Given the description of an element on the screen output the (x, y) to click on. 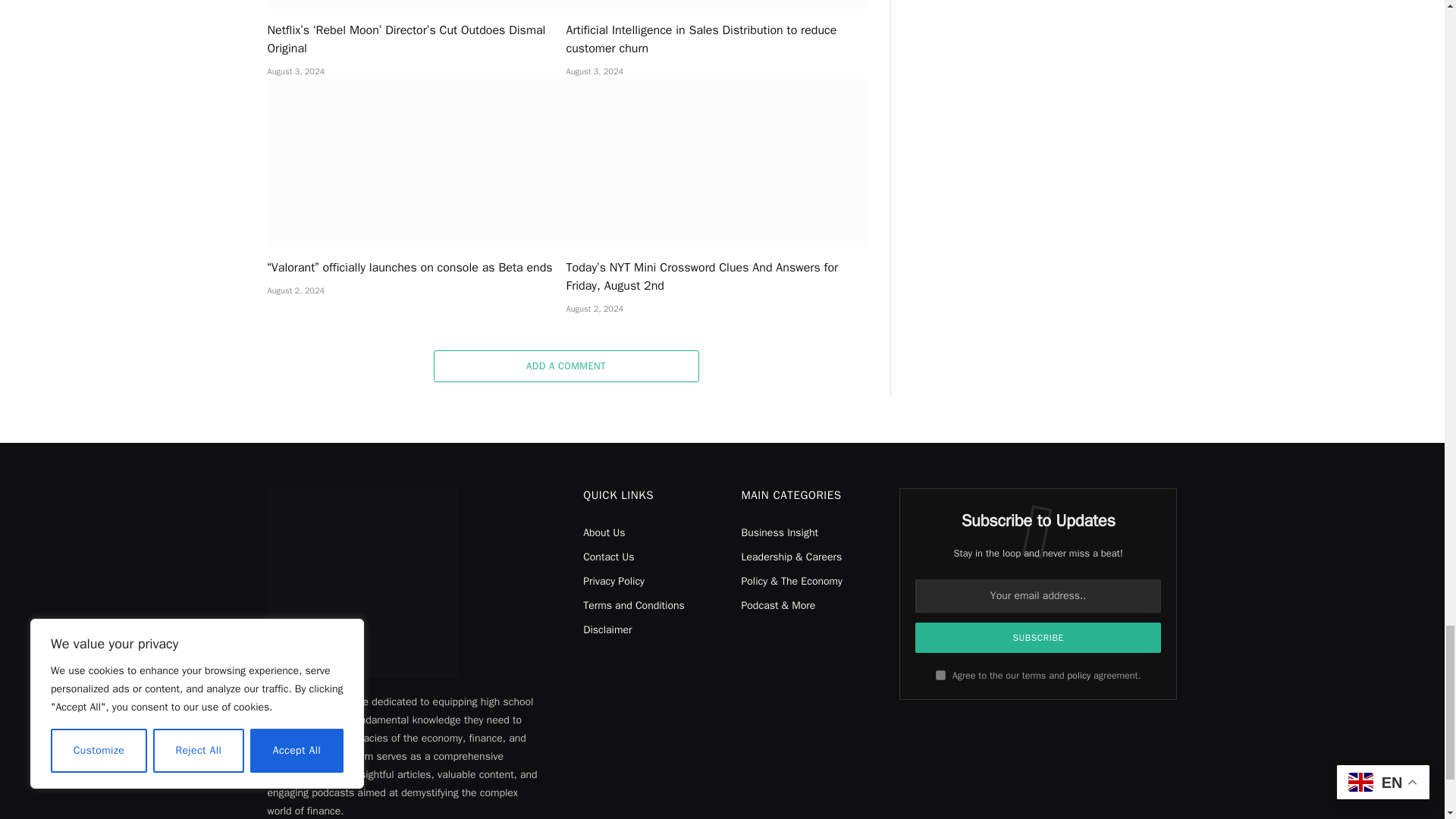
Subscribe (1038, 637)
on (940, 675)
